Given the description of an element on the screen output the (x, y) to click on. 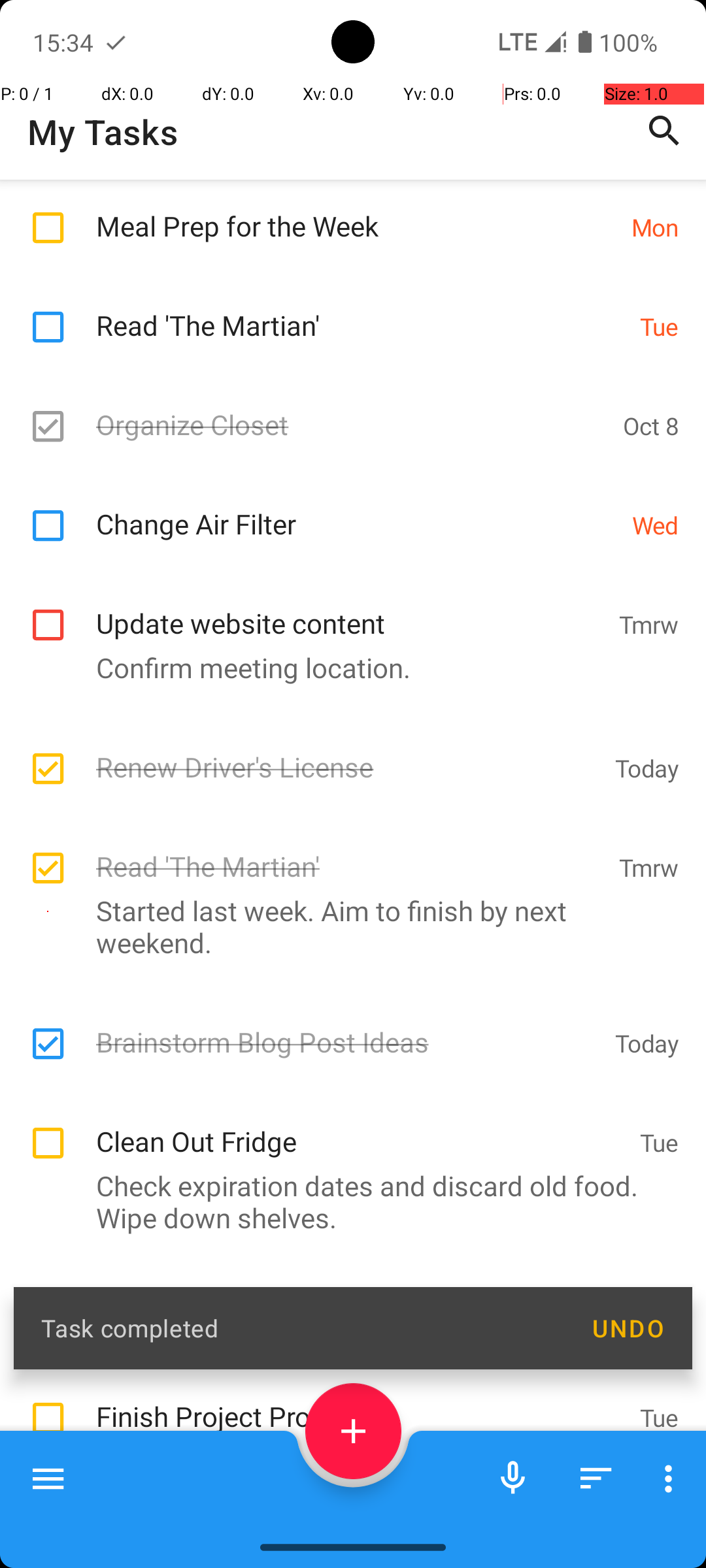
Task completed Element type: android.widget.TextView (302, 1327)
UNDO Element type: android.widget.Button (627, 1328)
Update website content Element type: android.widget.TextView (350, 608)
Confirm meeting location. Element type: android.widget.TextView (346, 667)
